Given the description of an element on the screen output the (x, y) to click on. 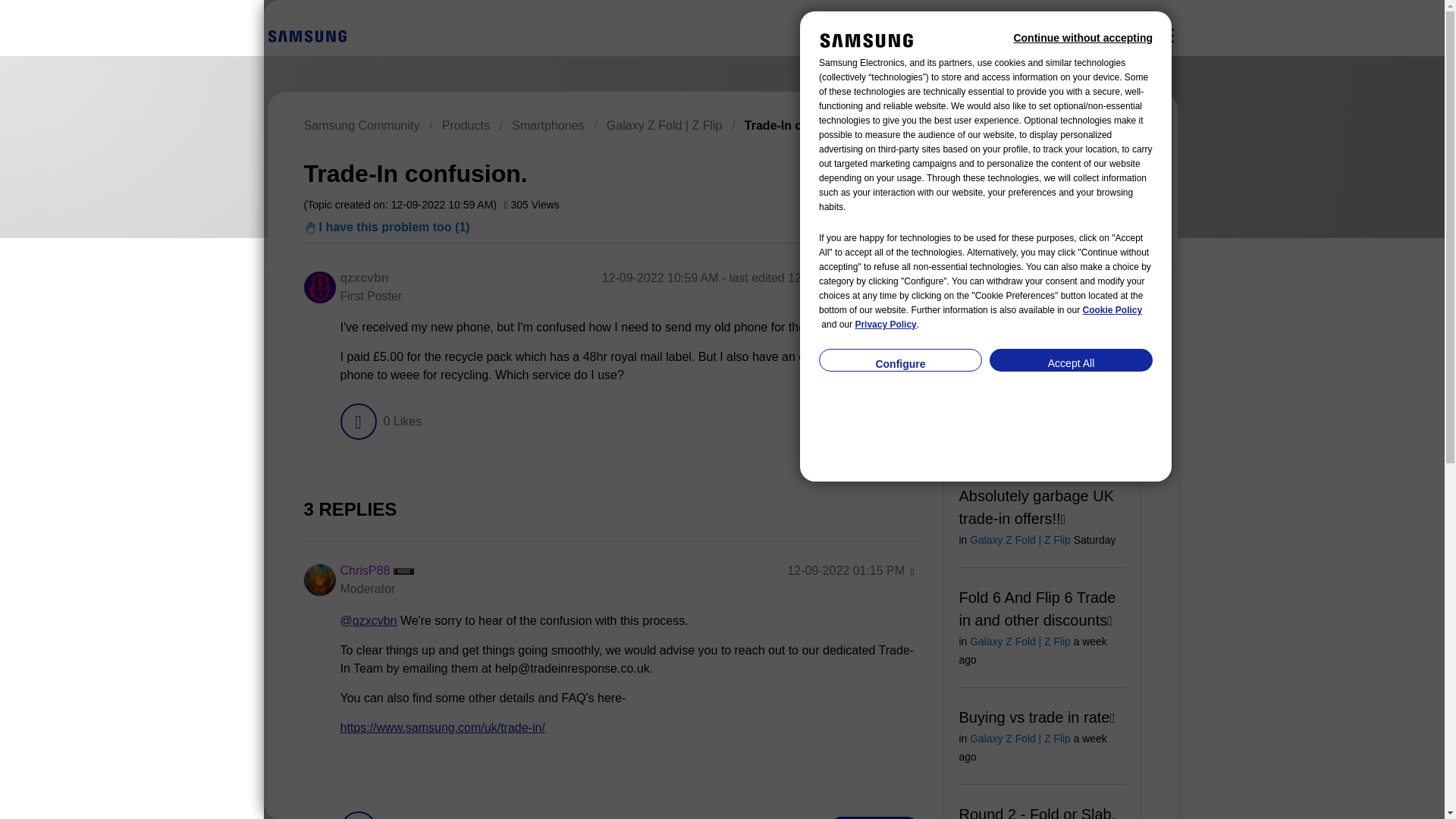
English (306, 36)
Smartphones (547, 124)
English (306, 34)
Community (1164, 35)
Show option menu (1072, 171)
qzxcvbn (363, 277)
qzxcvbn (318, 287)
Samsung Community (360, 124)
REPLY (874, 421)
Show option menu (912, 279)
ChrisP88 (364, 570)
Topic Options (1072, 171)
Products (465, 124)
The total number of likes this post has received. (401, 421)
Click here to give likes to this post. (357, 421)
